Given the description of an element on the screen output the (x, y) to click on. 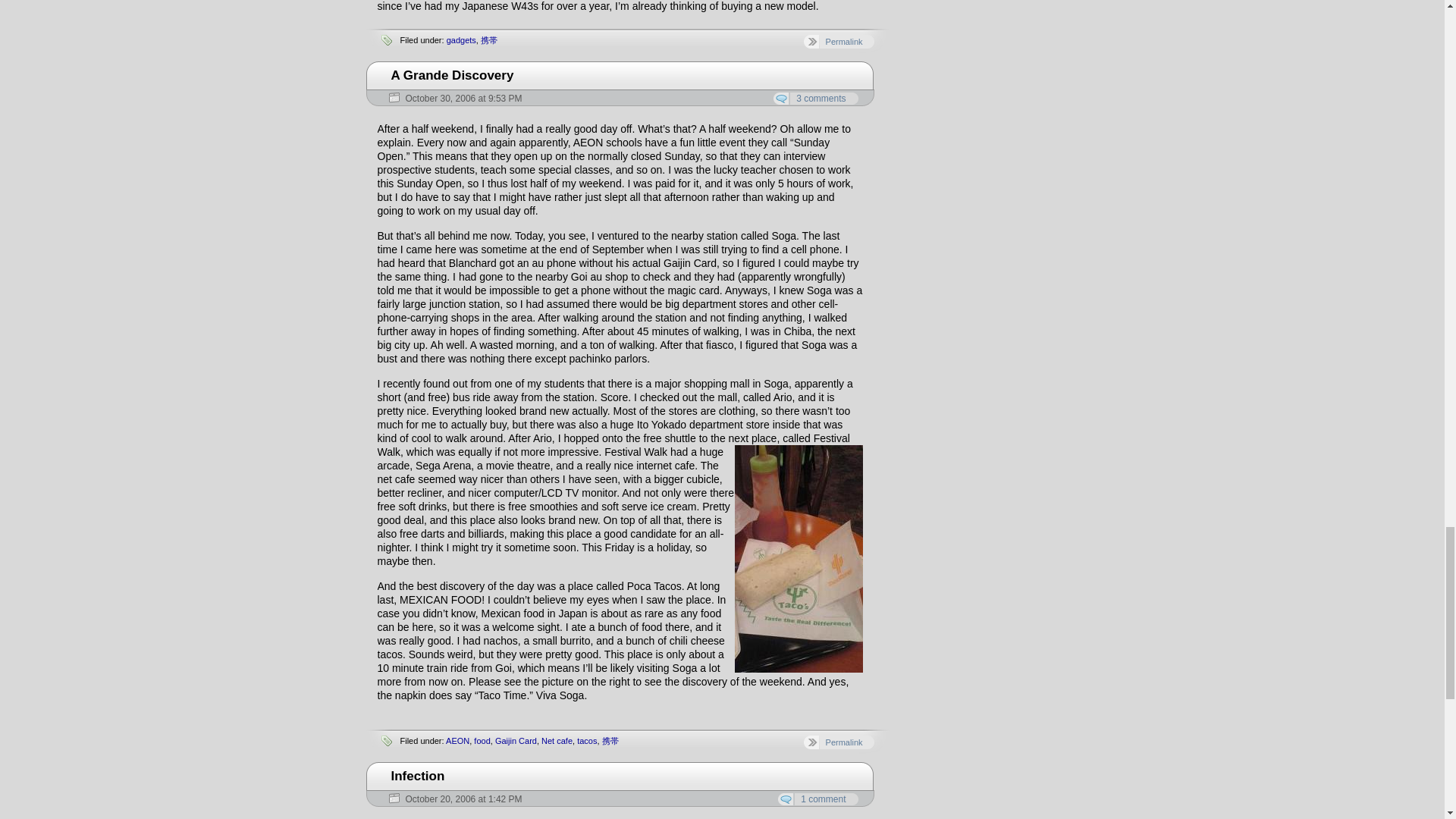
3 comments (815, 98)
AEON (456, 740)
Permalink (839, 41)
Permalink to A Grande Discovery (452, 74)
A Grande Discovery (452, 74)
Permalink to Infection (418, 775)
gadgets (461, 40)
